Given the description of an element on the screen output the (x, y) to click on. 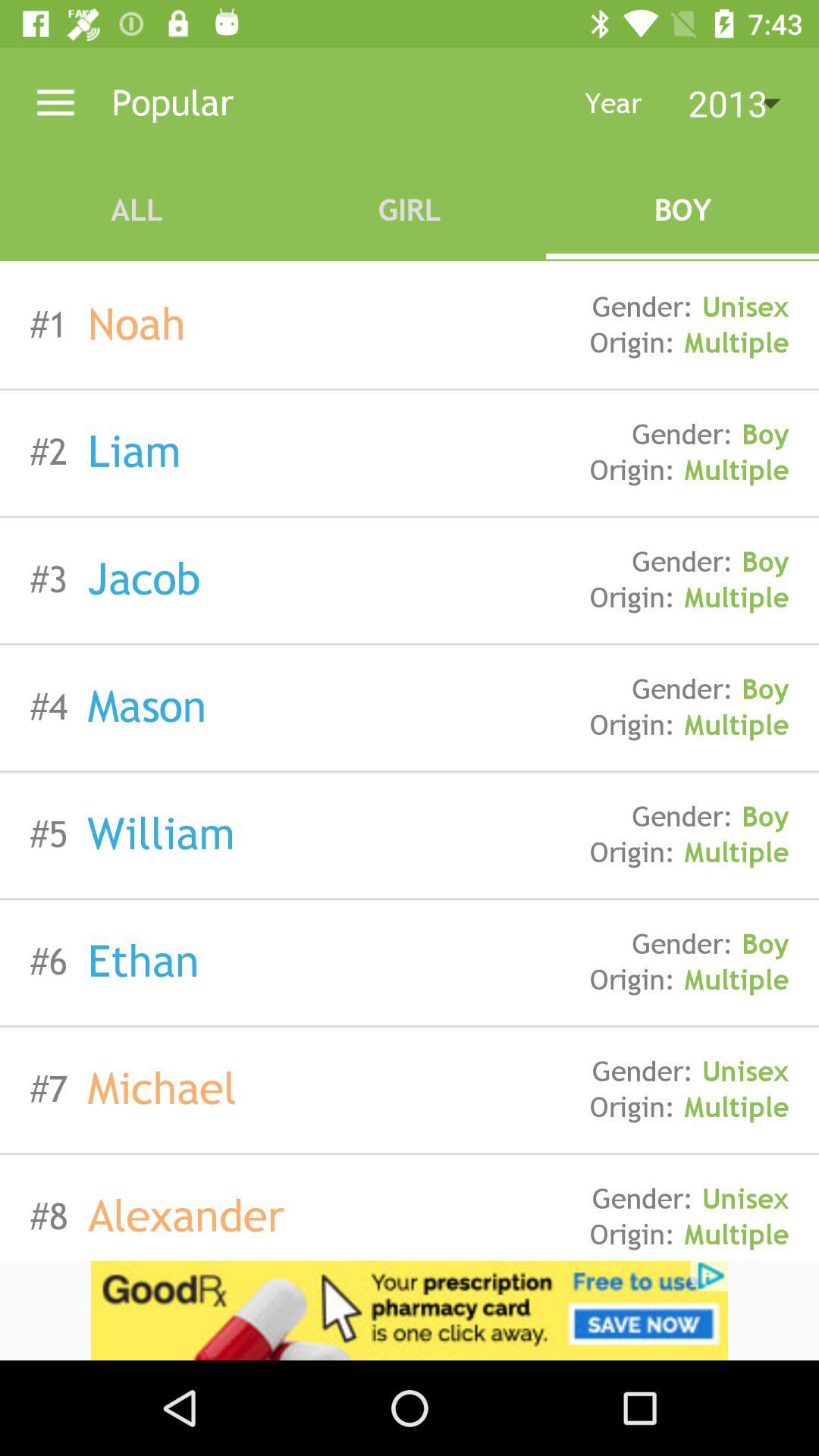
click advertisement (409, 1310)
